Given the description of an element on the screen output the (x, y) to click on. 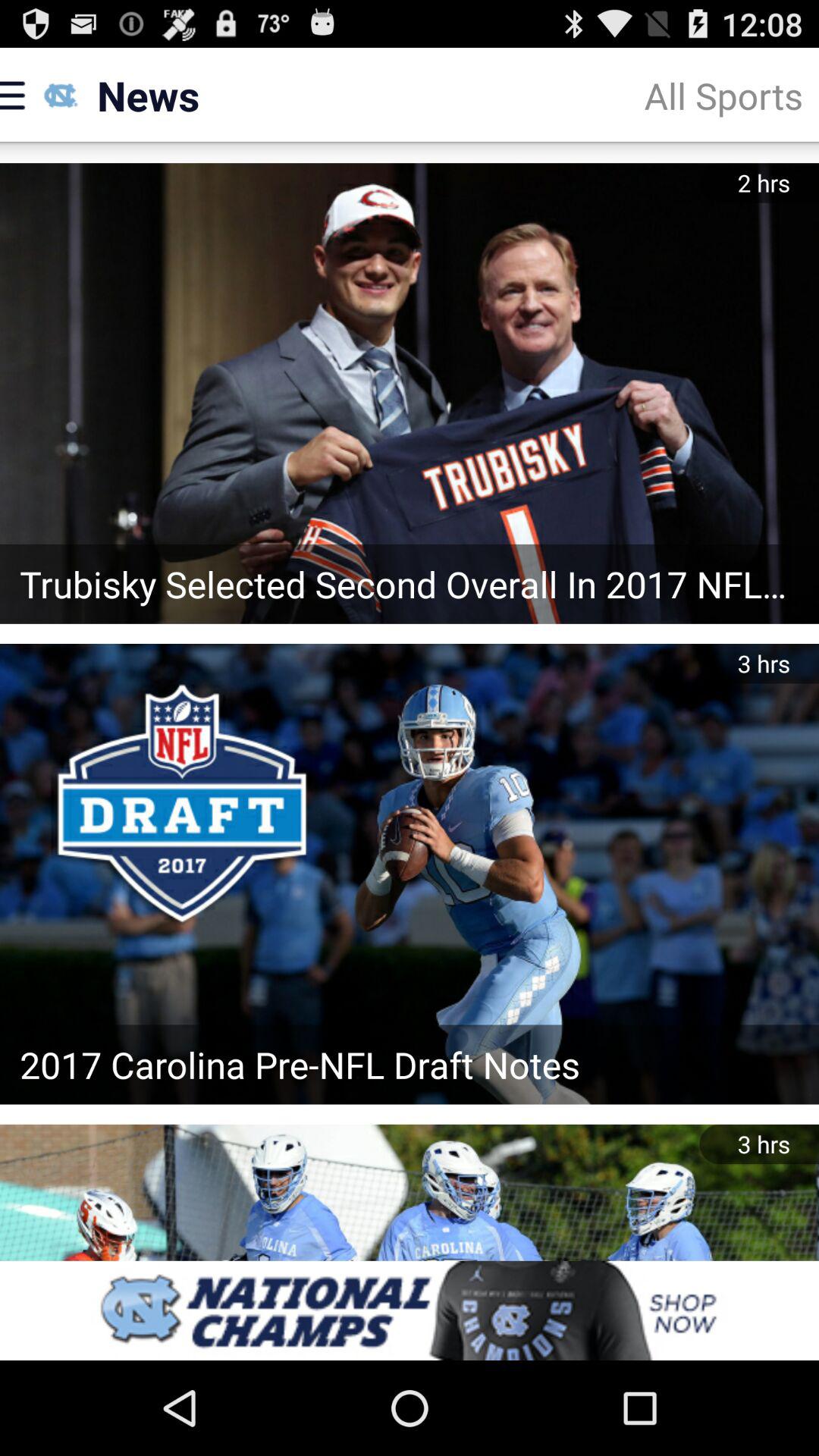
banner advertisements (409, 1310)
